Given the description of an element on the screen output the (x, y) to click on. 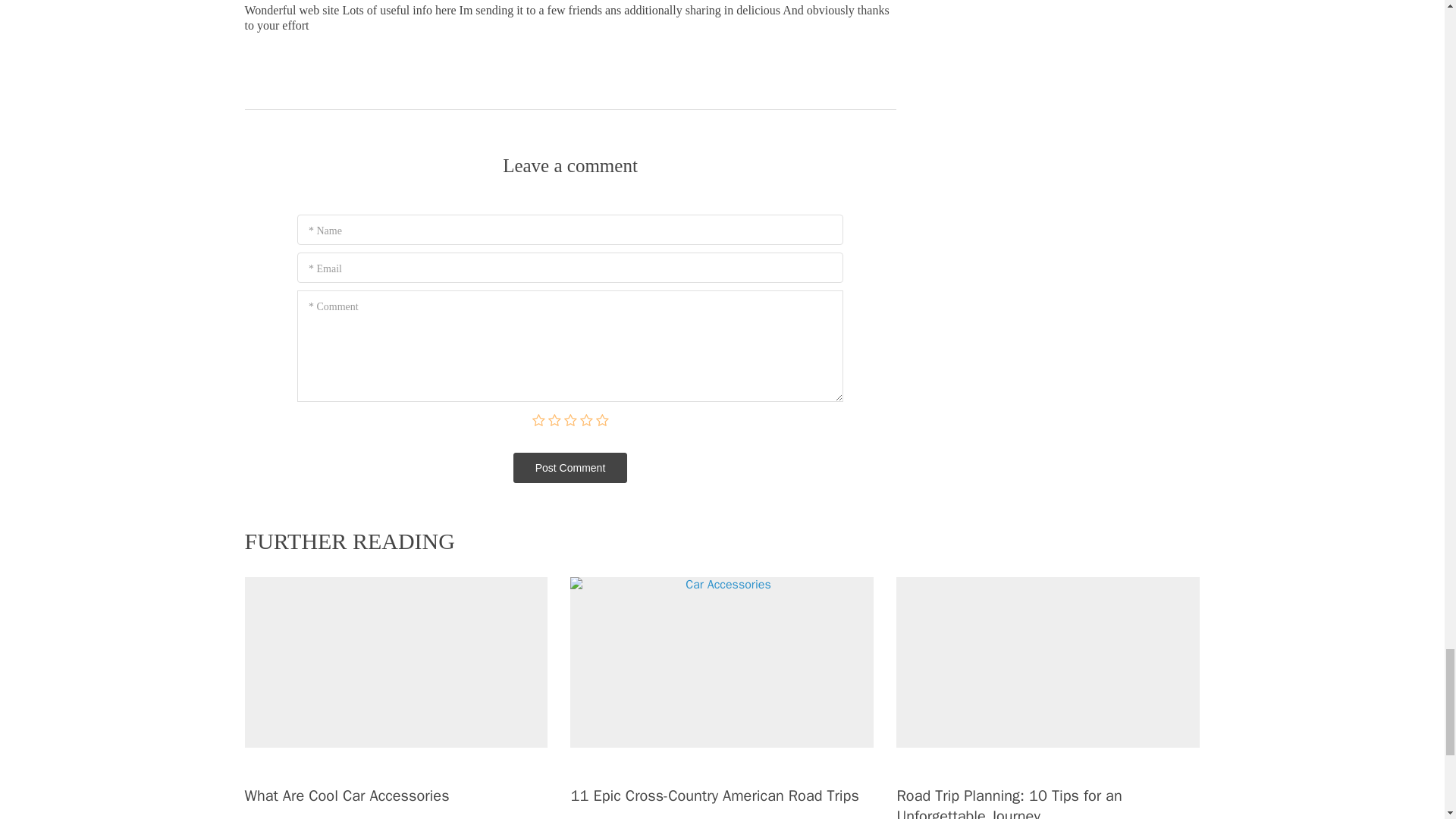
11 Epic Cross-Country American Road Trips 19 (721, 662)
